Given the description of an element on the screen output the (x, y) to click on. 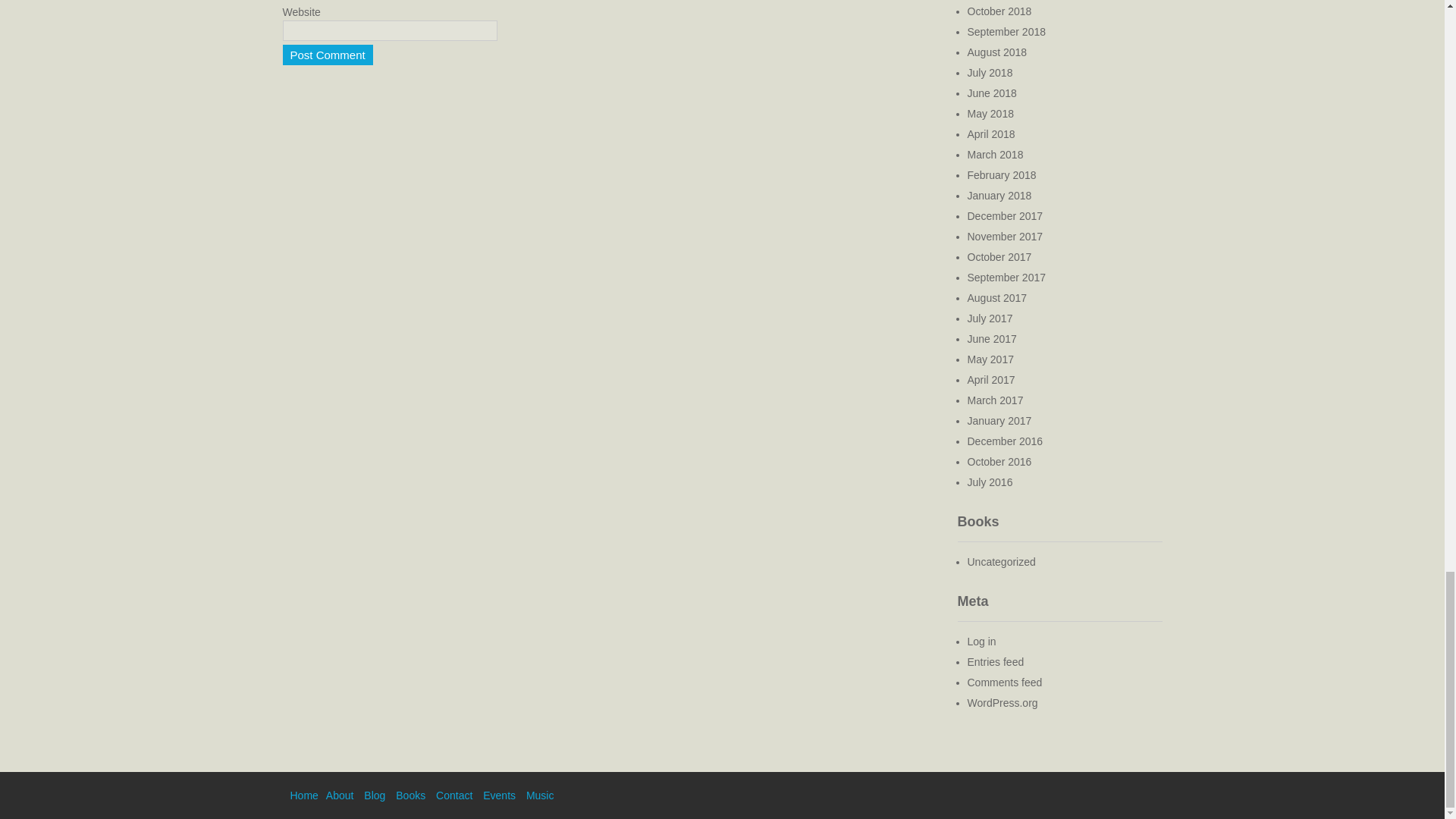
Post Comment (327, 55)
Post Comment (327, 55)
